Given the description of an element on the screen output the (x, y) to click on. 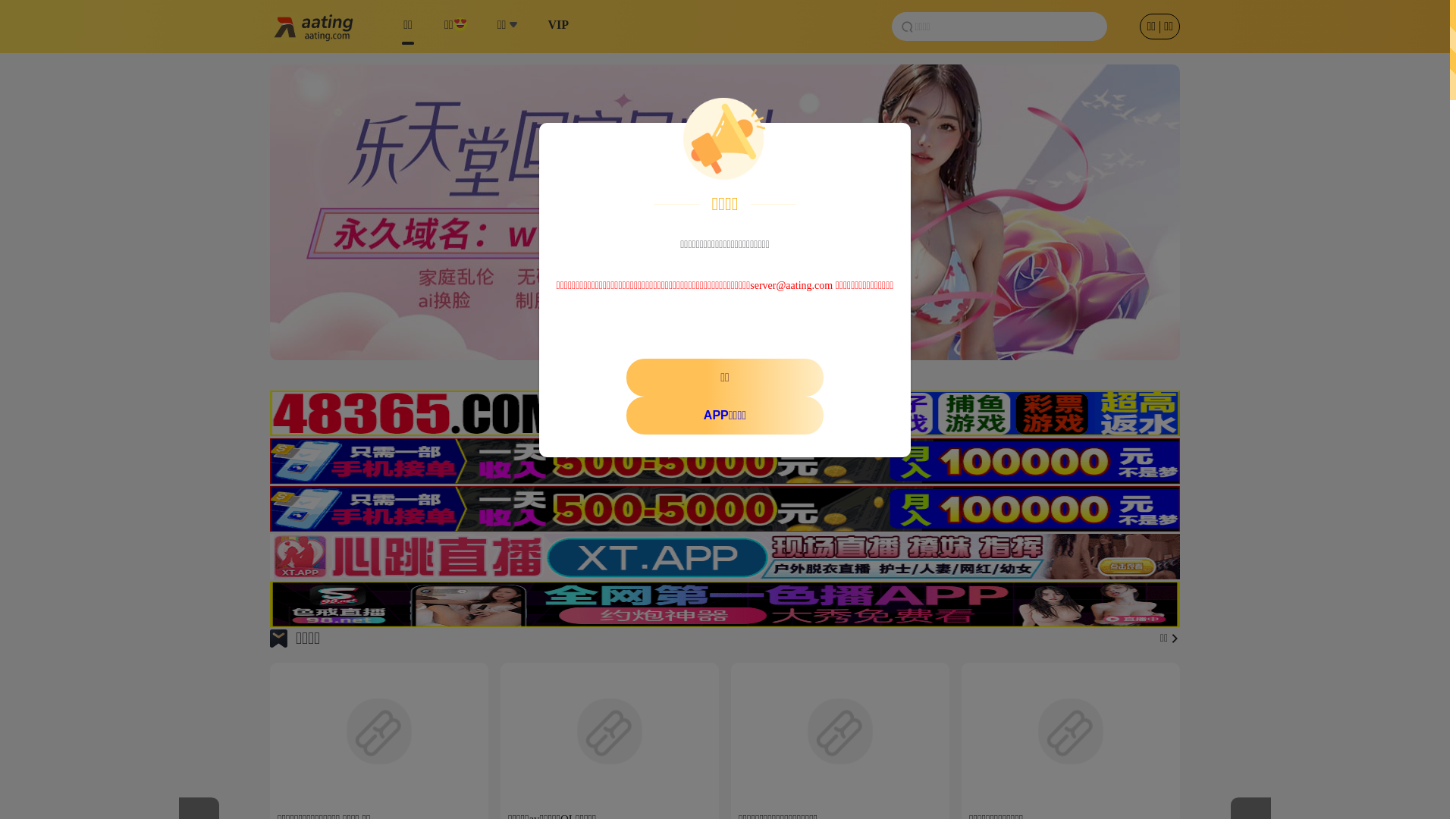
VIP Element type: text (557, 26)
